Given the description of an element on the screen output the (x, y) to click on. 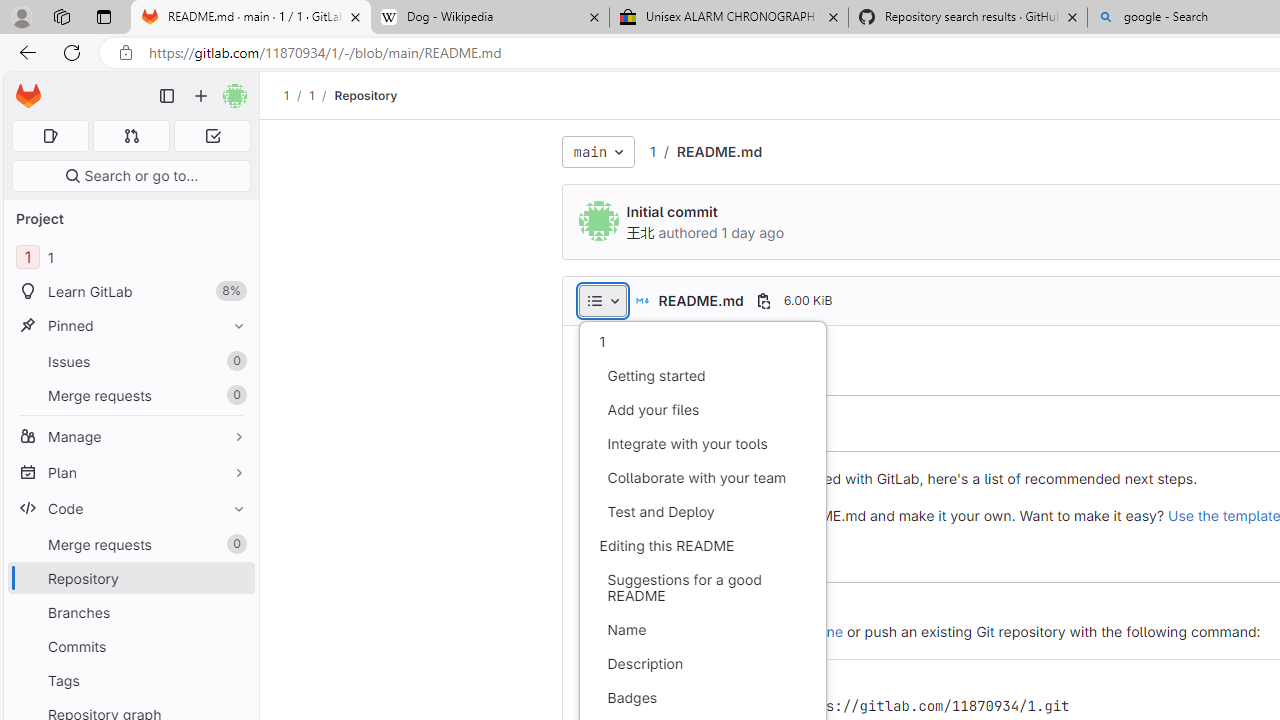
Suggestions for a good README (701, 587)
Commits (130, 646)
Code (130, 507)
Tags (130, 679)
Collaborate with your team (701, 477)
Test and Deploy (701, 511)
Suggestions for a good README (701, 587)
